Given the description of an element on the screen output the (x, y) to click on. 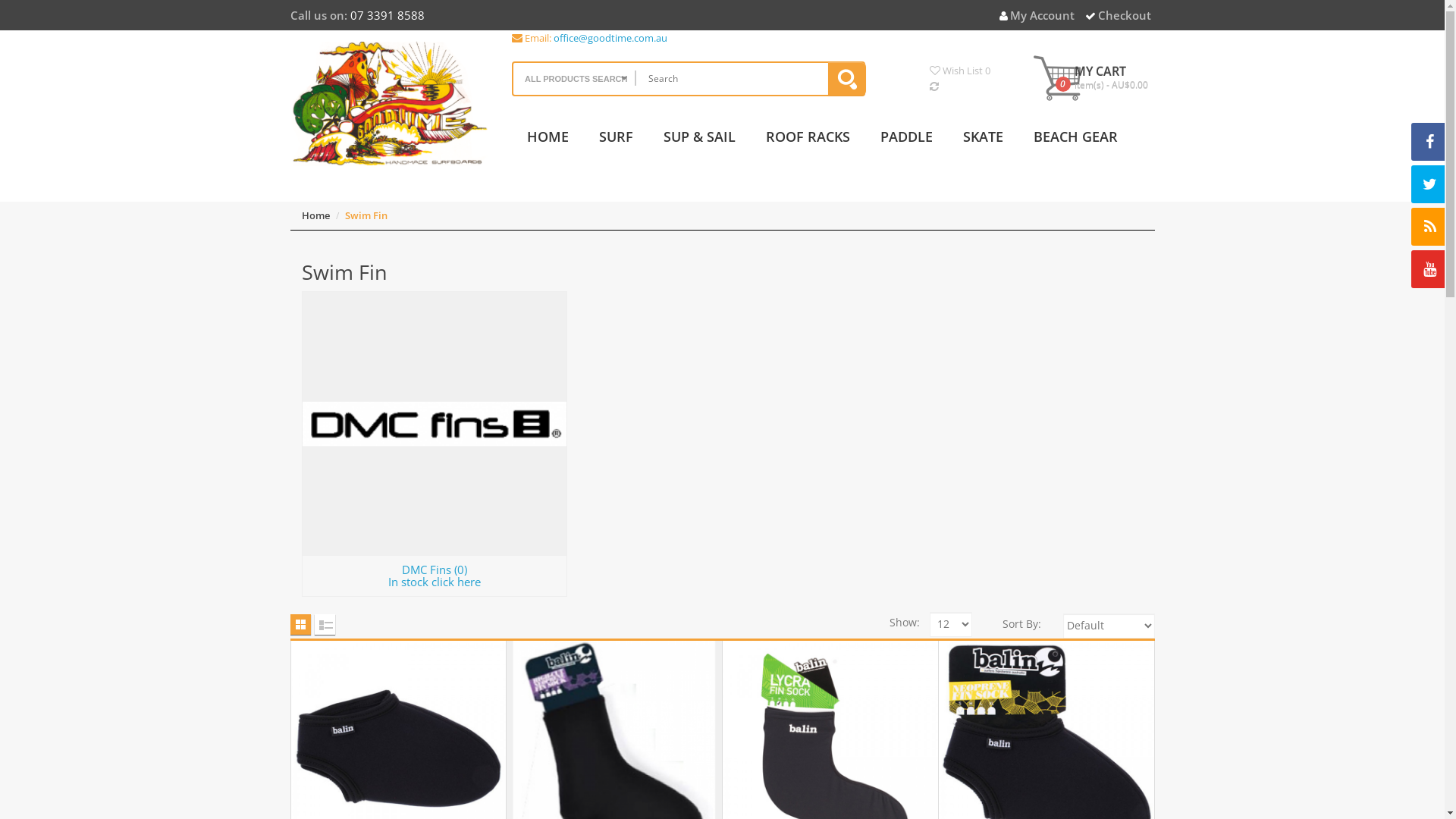
DMC Fins (0) Element type: hover (433, 423)
SUP & SAIL Element type: text (699, 143)
Checkout Element type: text (1117, 14)
SURF Element type: text (615, 143)
MY CART
0
item(s) - AU$0.00 Element type: text (1091, 77)
DMC Fins (0)
In stock click here Element type: text (434, 575)
office@goodtime.com.au Element type: text (610, 37)
Home Element type: text (315, 215)
My Account Element type: text (1036, 14)
BEACH GEAR Element type: text (1075, 143)
List Element type: hover (323, 624)
SKATE Element type: text (982, 143)
GoodTime Est 1971 Element type: hover (389, 103)
HOME Element type: text (547, 143)
Call us on: Element type: text (317, 14)
Grid Element type: hover (299, 624)
ROOF RACKS Element type: text (807, 143)
Swim Fin Element type: text (365, 215)
Wish List 0 Element type: text (959, 70)
PADDLE Element type: text (906, 143)
